Given the description of an element on the screen output the (x, y) to click on. 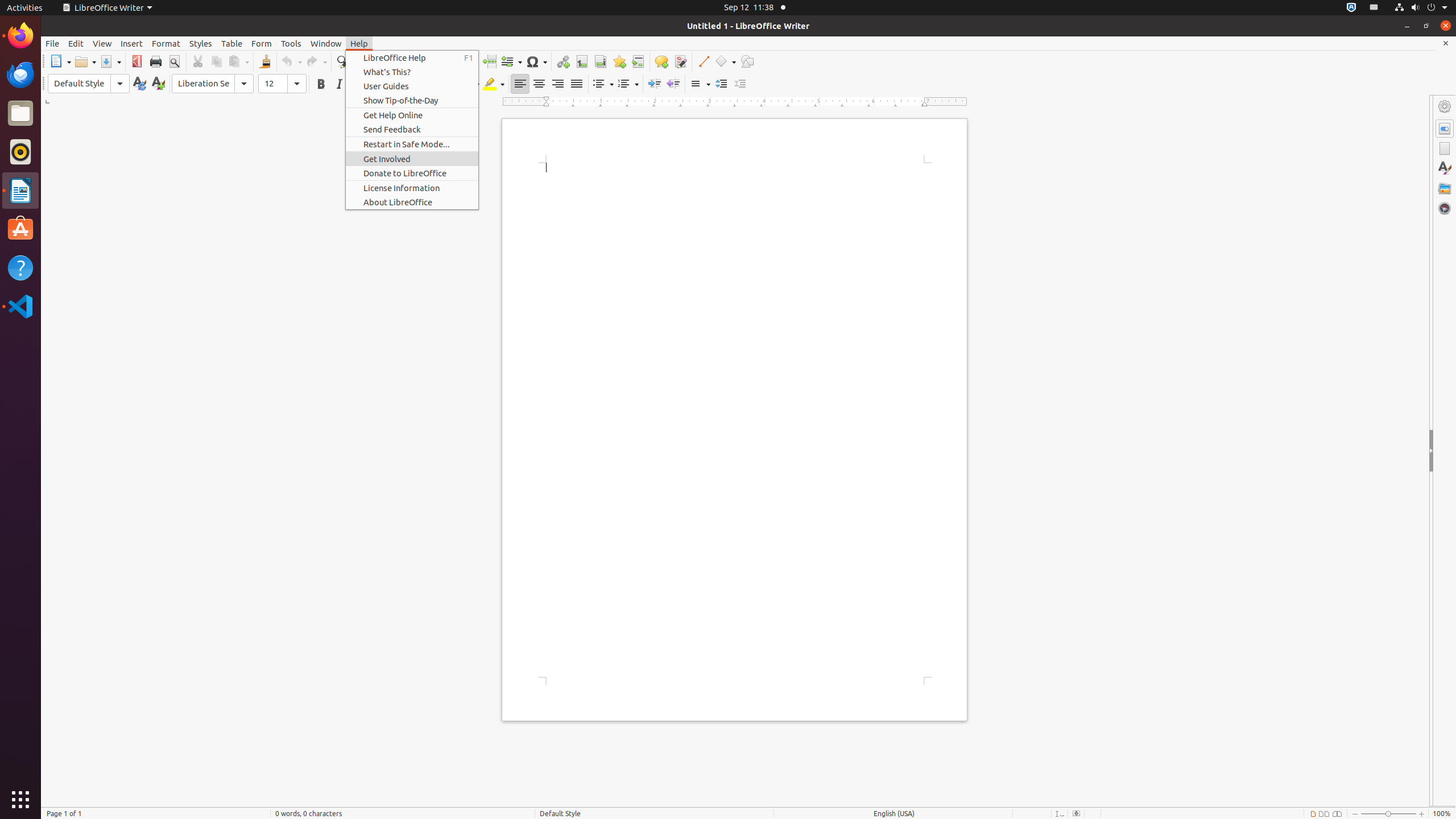
User Guides Element type: menu-item (411, 86)
Ubuntu Software Element type: push-button (20, 229)
Symbol Element type: push-button (535, 61)
Help Element type: push-button (20, 267)
Edit Element type: menu (75, 43)
